Given the description of an element on the screen output the (x, y) to click on. 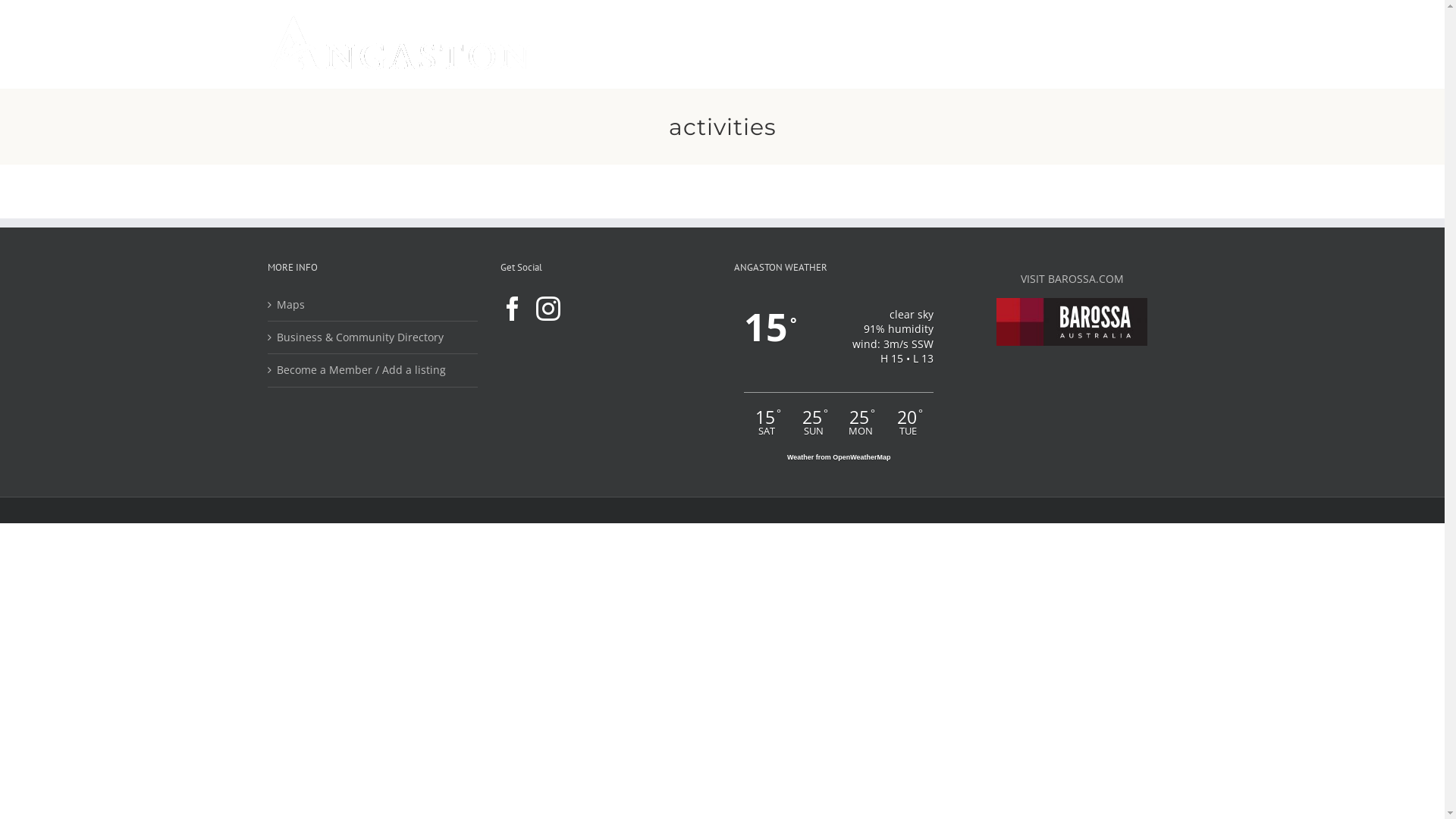
Search Element type: hover (1151, 44)
Maps Element type: text (373, 303)
Become a Member / Add a listing Element type: text (373, 369)
EXPLORE Element type: text (785, 44)
VISIT BAROSSA.COM Element type: text (1071, 278)
STAY Element type: text (965, 44)
Business & Community Directory Element type: text (373, 337)
WINE Element type: text (908, 44)
EAT Element type: text (854, 44)
EVENTS Element type: text (1032, 44)
